Given the description of an element on the screen output the (x, y) to click on. 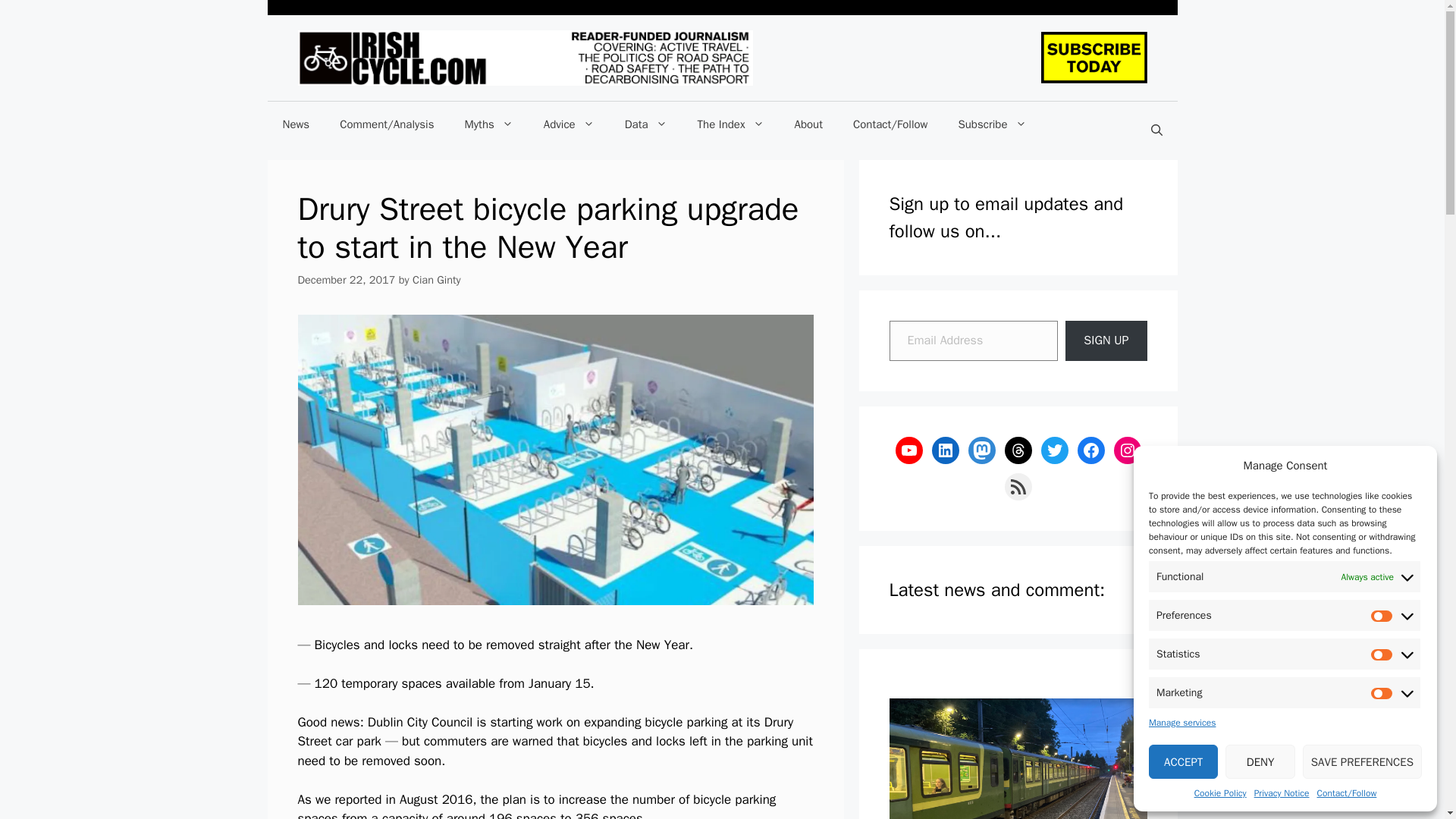
Data (646, 124)
View all posts by Cian Ginty (436, 279)
DENY (1259, 761)
News (295, 124)
Advice (569, 124)
Cookie Policy (1219, 793)
The Index (730, 124)
Privacy Notice (1280, 793)
Myths (487, 124)
Manage services (1181, 722)
ACCEPT (1182, 761)
